Given the description of an element on the screen output the (x, y) to click on. 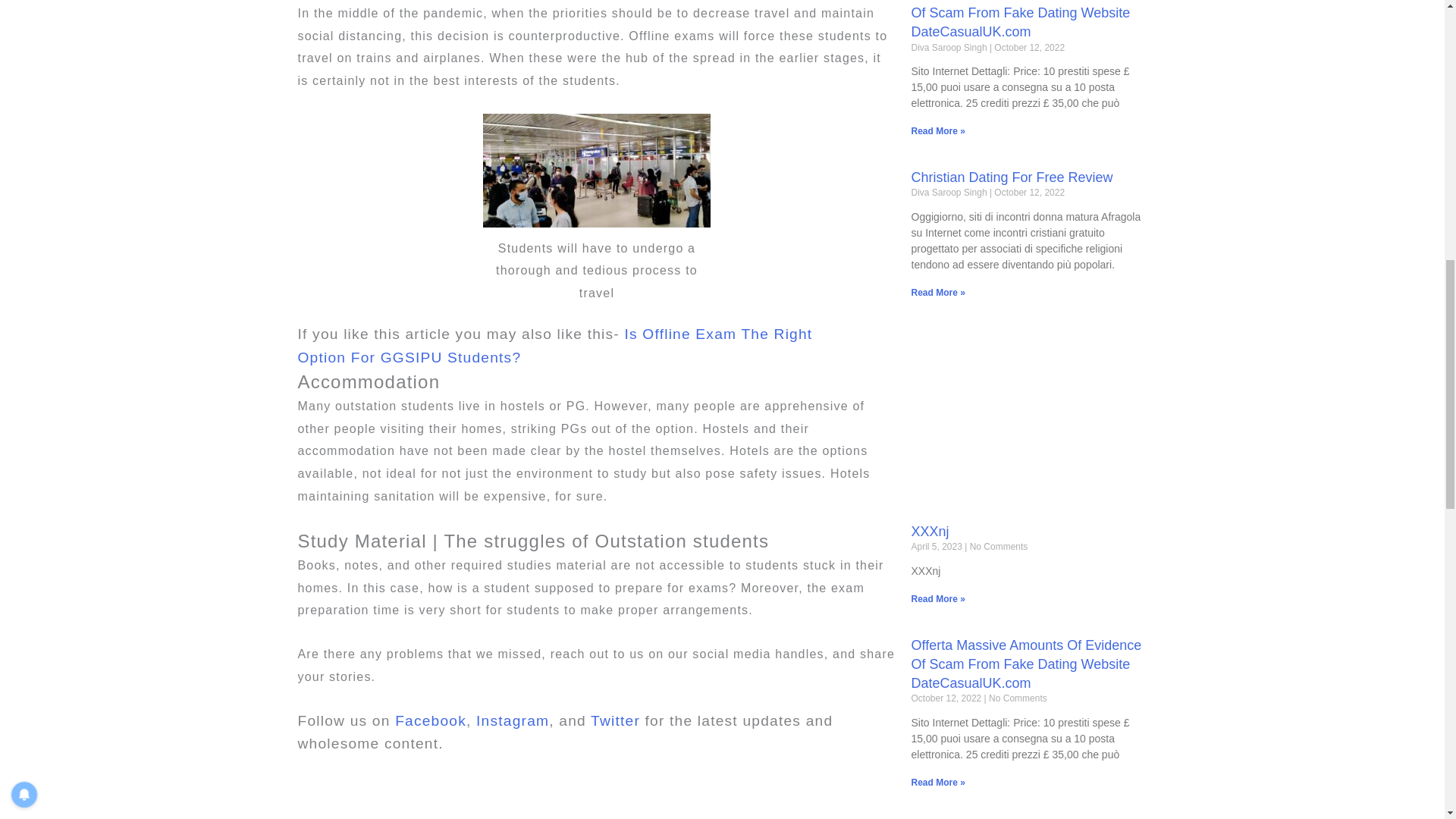
Advertisement (1029, 411)
